Given the description of an element on the screen output the (x, y) to click on. 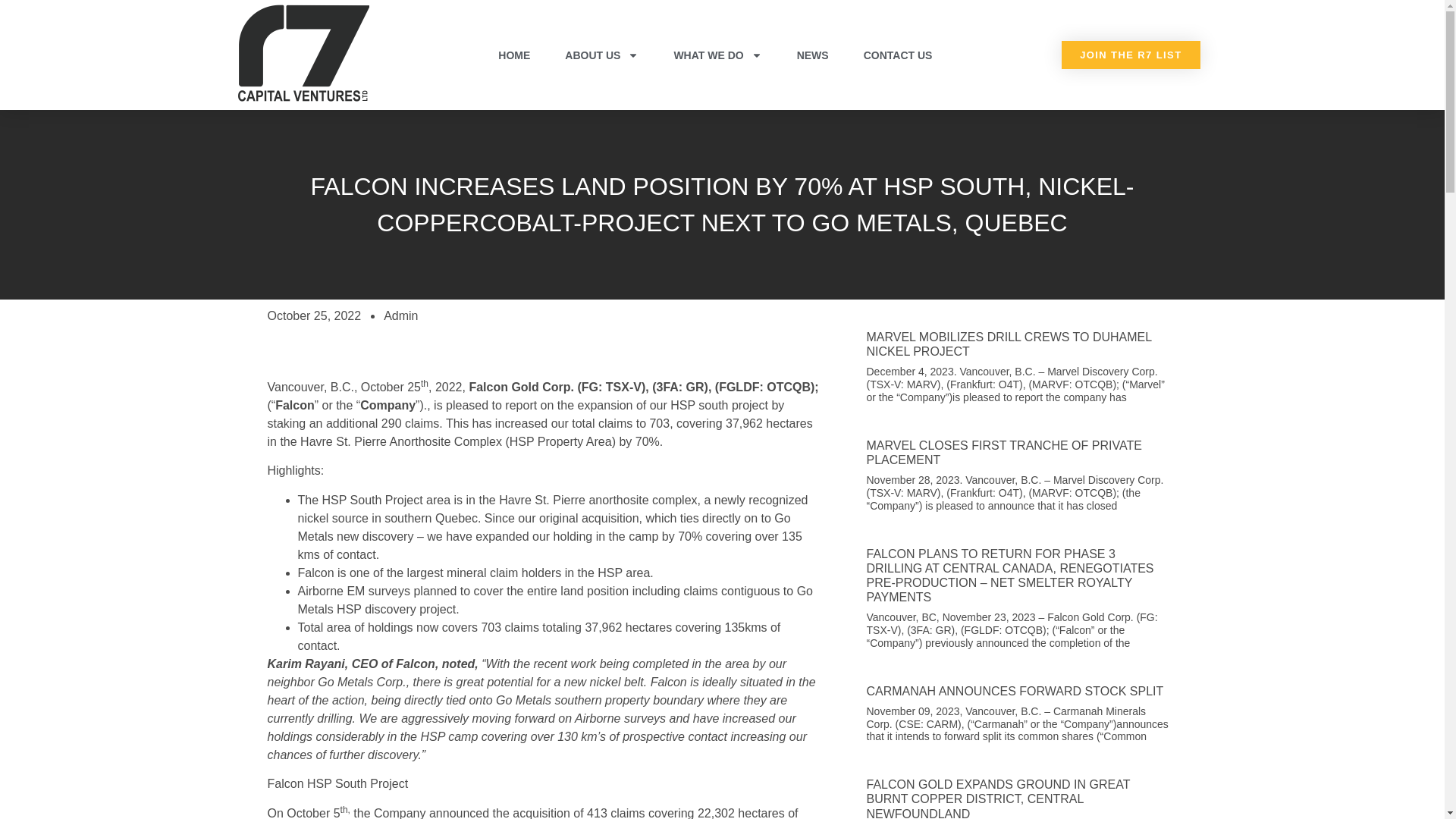
CARMANAH ANNOUNCES FORWARD STOCK SPLIT (1014, 690)
ABOUT US (601, 54)
NEWS (812, 54)
MARVEL MOBILIZES DRILL CREWS TO DUHAMEL NICKEL PROJECT (1008, 343)
October 25, 2022 (313, 316)
HOME (513, 54)
JOIN THE R7 LIST (1130, 54)
WHAT WE DO (717, 54)
CONTACT US (897, 54)
MARVEL CLOSES FIRST TRANCHE OF PRIVATE PLACEMENT (1003, 452)
Admin (400, 316)
R7 Capital Ventures-04-04 (302, 51)
